Given the description of an element on the screen output the (x, y) to click on. 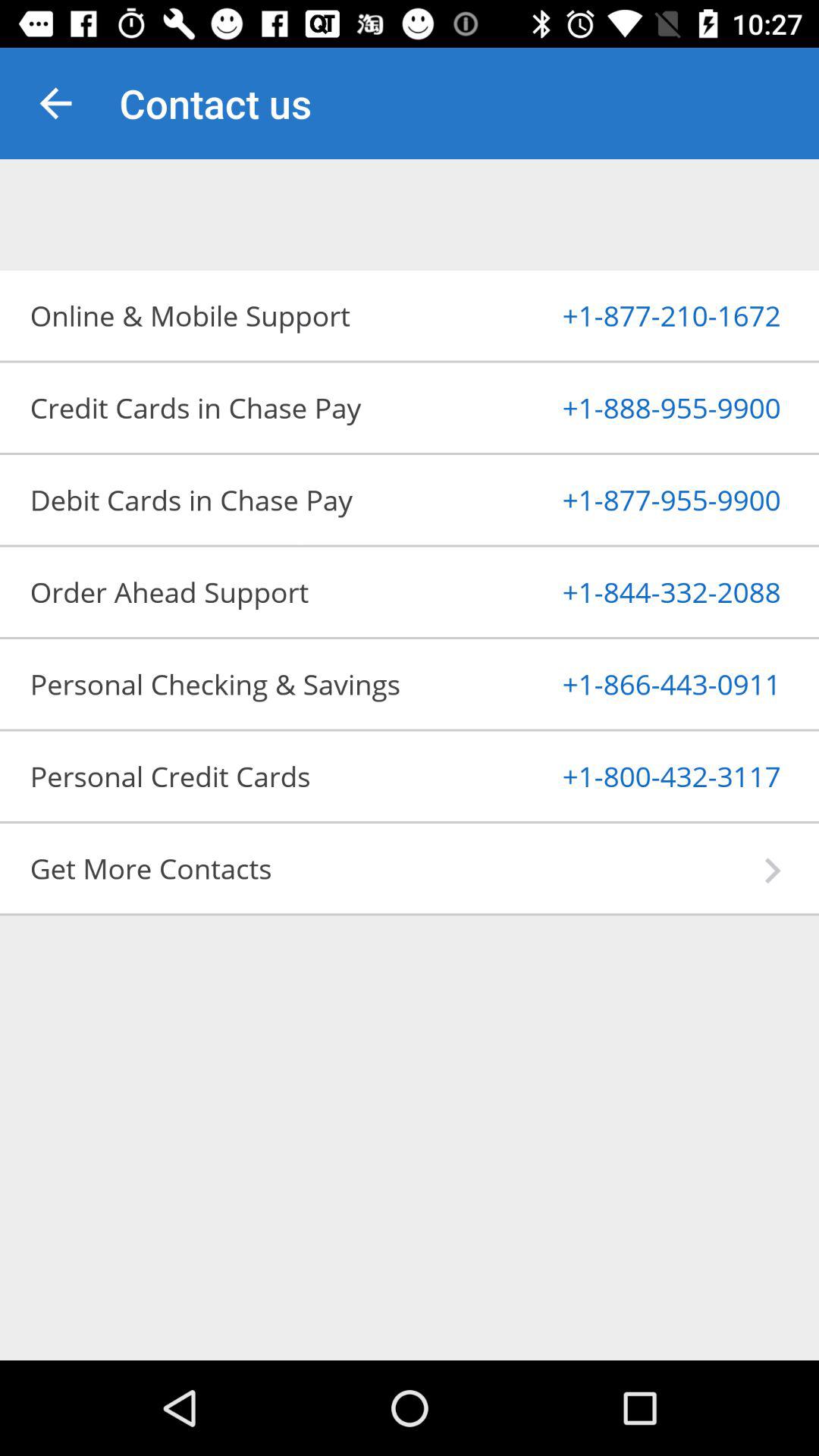
flip to 1 844 332 app (634, 591)
